Given the description of an element on the screen output the (x, y) to click on. 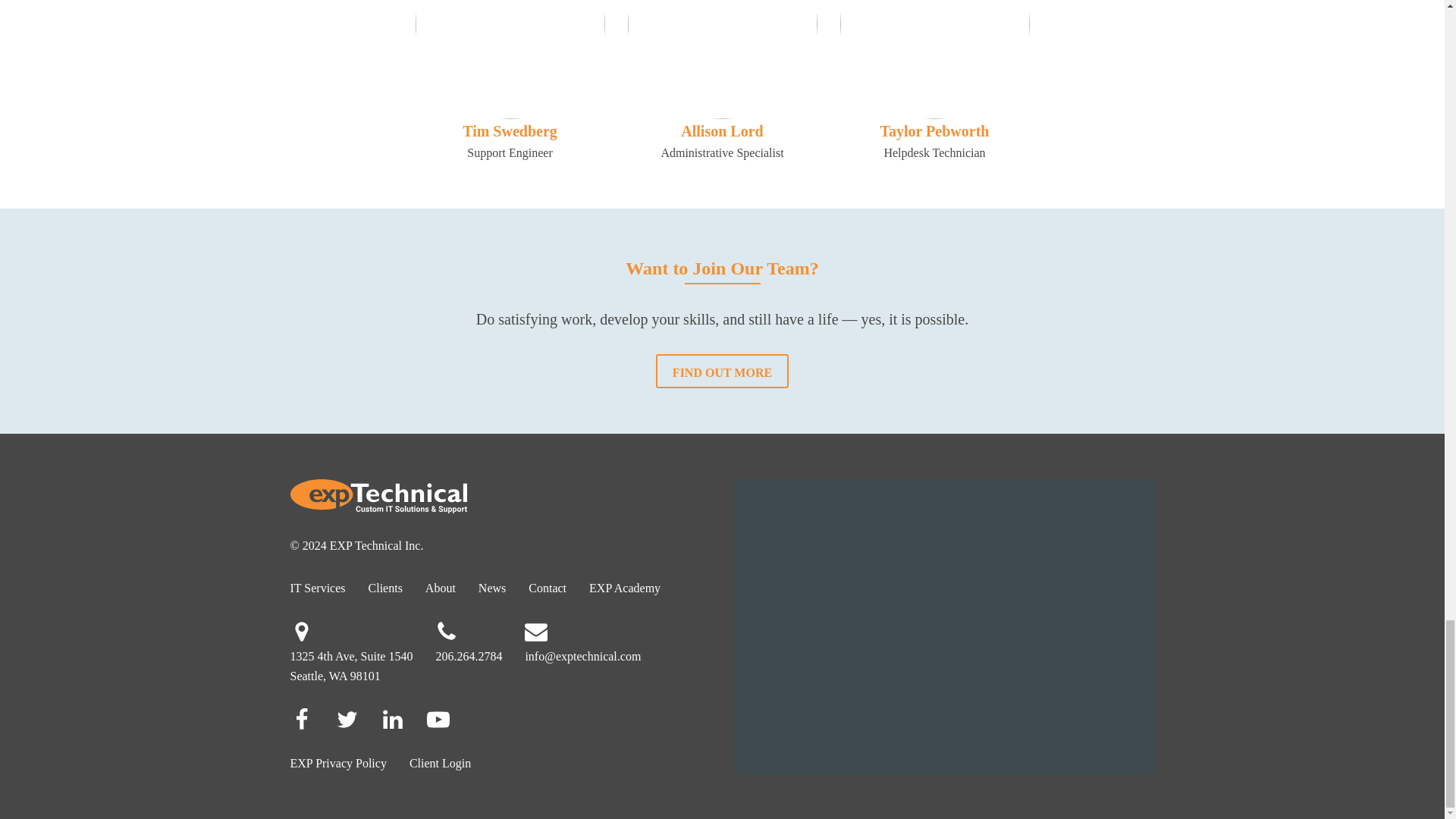
Clients (384, 588)
IT Services (317, 588)
About (440, 588)
FIND OUT MORE (722, 370)
